Given the description of an element on the screen output the (x, y) to click on. 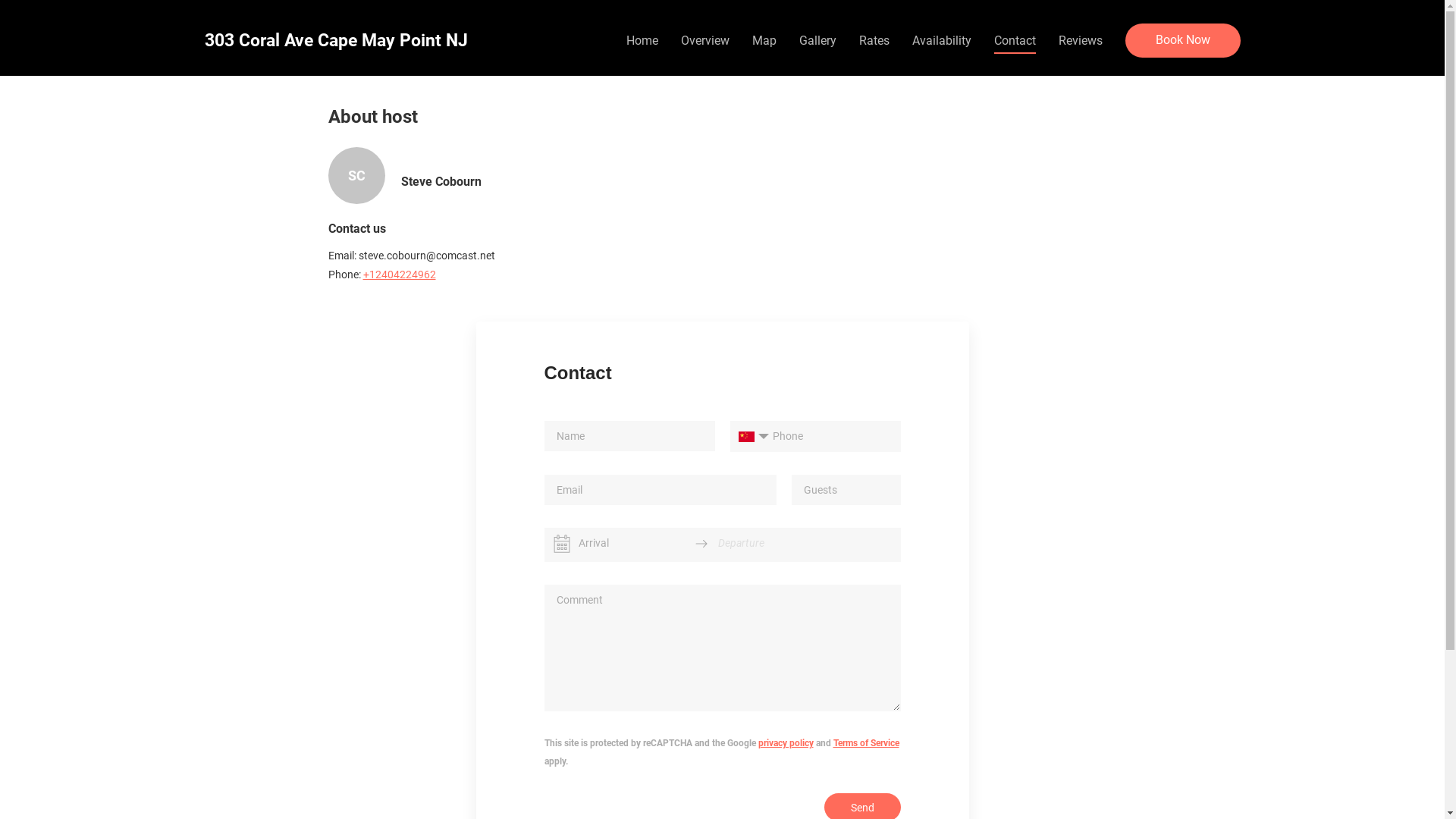
Book Now Element type: text (1182, 40)
Reviews Element type: text (1080, 39)
Terms of Service Element type: text (865, 742)
Availability Element type: text (940, 39)
Map Element type: text (764, 39)
+12404224962 Element type: text (398, 274)
Gallery Element type: text (817, 39)
Overview Element type: text (704, 39)
Home Element type: text (642, 39)
Rates Element type: text (873, 39)
303 Coral Ave Cape May Point NJ Element type: text (335, 40)
Contact Element type: text (1014, 39)
privacy policy Element type: text (785, 742)
